Given the description of an element on the screen output the (x, y) to click on. 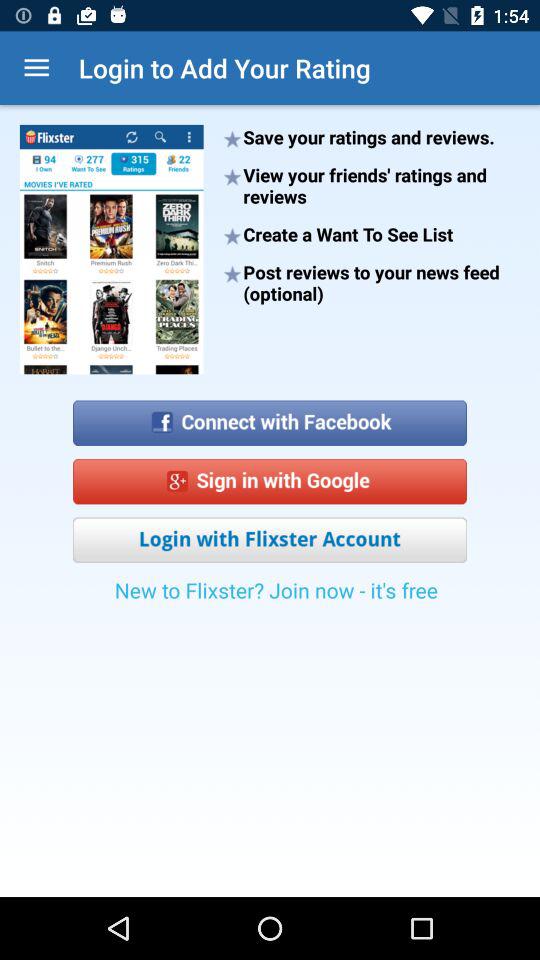
click to go to facebook (270, 416)
